Given the description of an element on the screen output the (x, y) to click on. 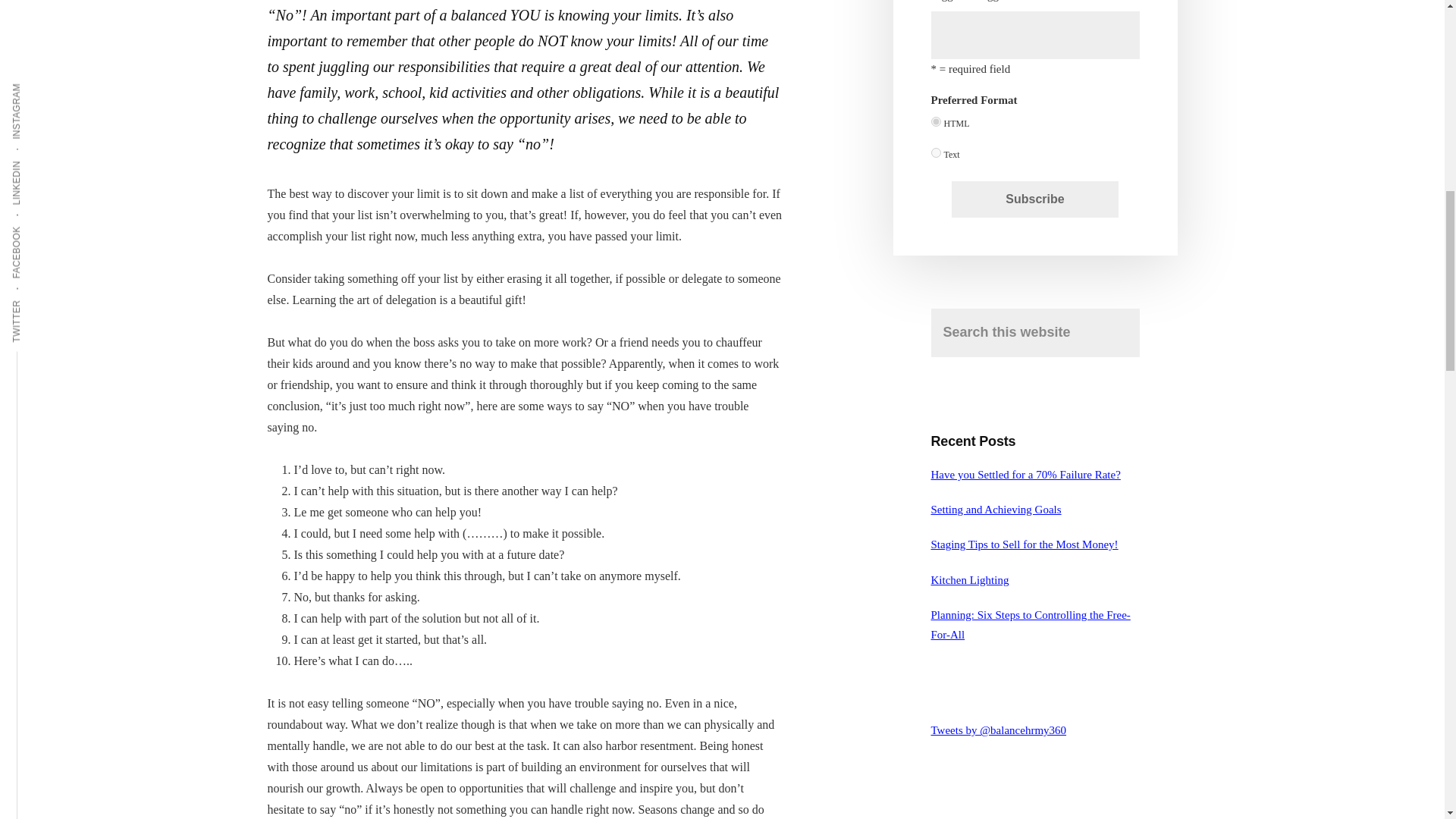
Subscribe (1035, 198)
text (935, 153)
html (935, 121)
